Given the description of an element on the screen output the (x, y) to click on. 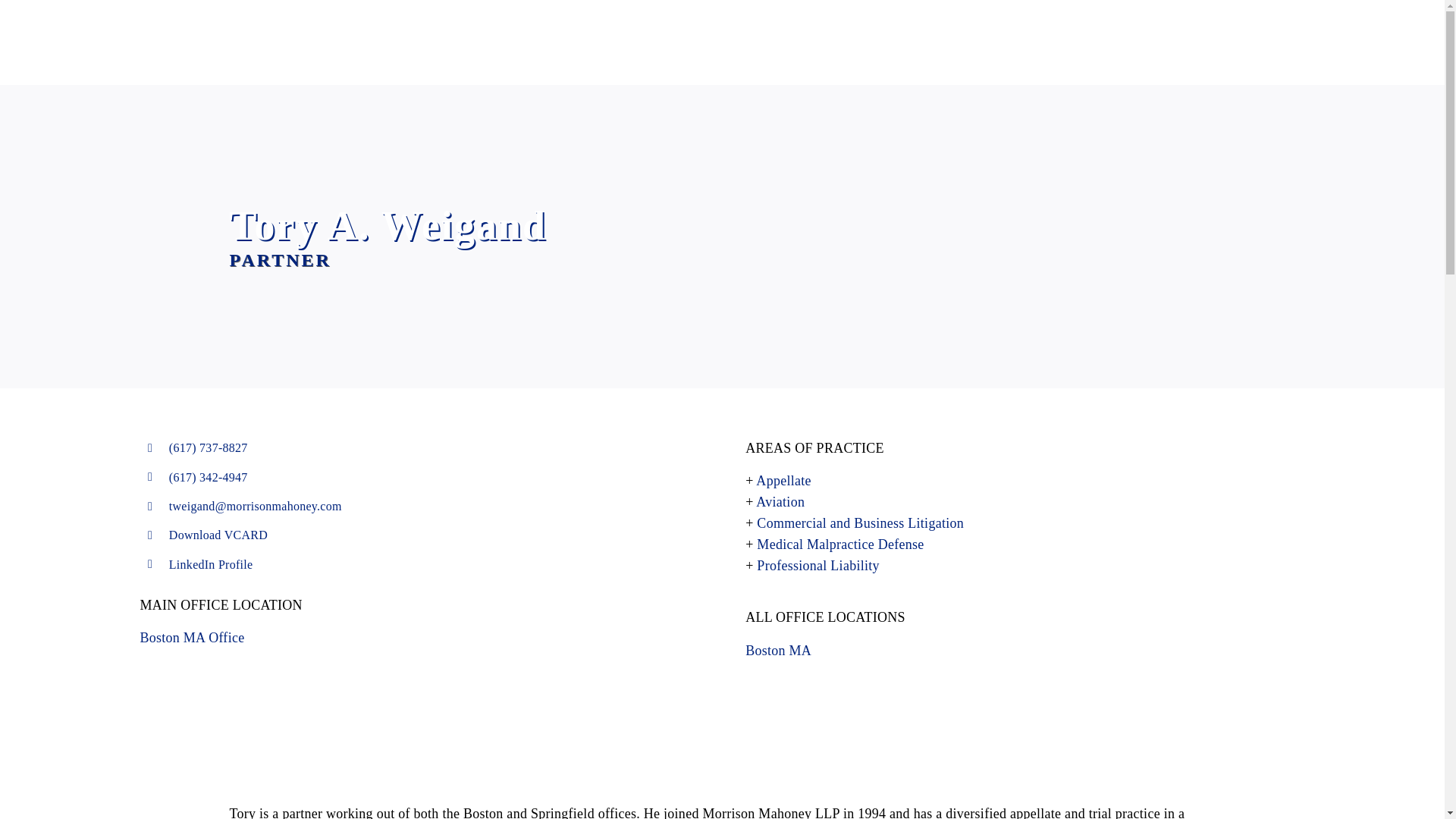
Professional Liability (818, 565)
Commercial and Business Litigation (860, 522)
Download VCARD (217, 534)
Appellate (782, 480)
Commercial and Business Litigation (860, 522)
Aviation (780, 501)
Professional Liability (818, 565)
Boston MA (777, 650)
Medical Malpractice Defense (840, 544)
Aviation (780, 501)
